Given the description of an element on the screen output the (x, y) to click on. 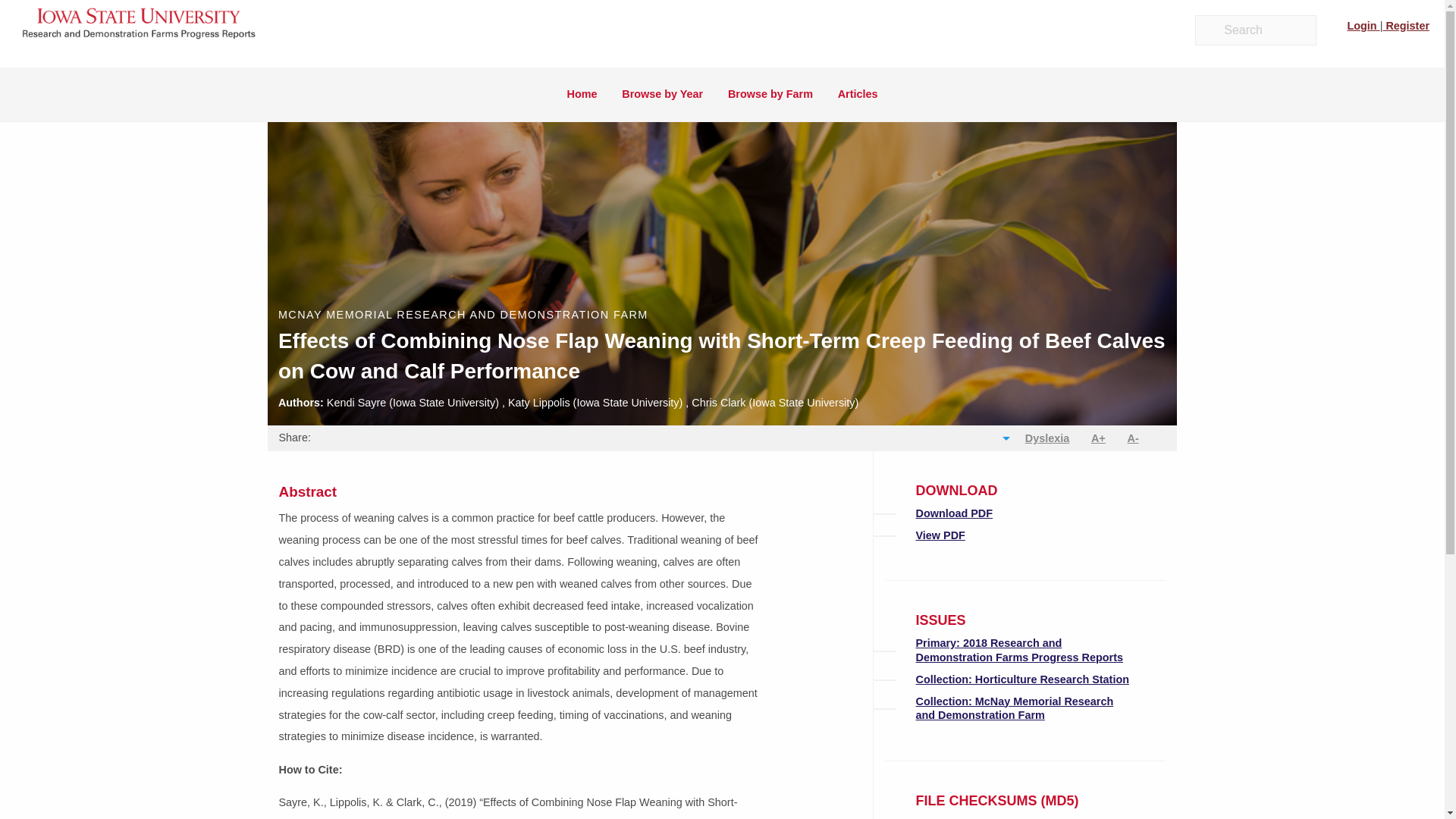
Dyslexia (1046, 438)
Browse by Farm (770, 94)
Articles (857, 94)
Home (139, 28)
Register (1405, 25)
Collection: Horticulture Research Station (1022, 679)
Login (1362, 25)
View PDF (940, 535)
Home (582, 94)
Collection: McNay Memorial Research and Demonstration Farm (1014, 707)
Browse by Year (662, 94)
Download PDF (953, 512)
A- (1133, 438)
